Given the description of an element on the screen output the (x, y) to click on. 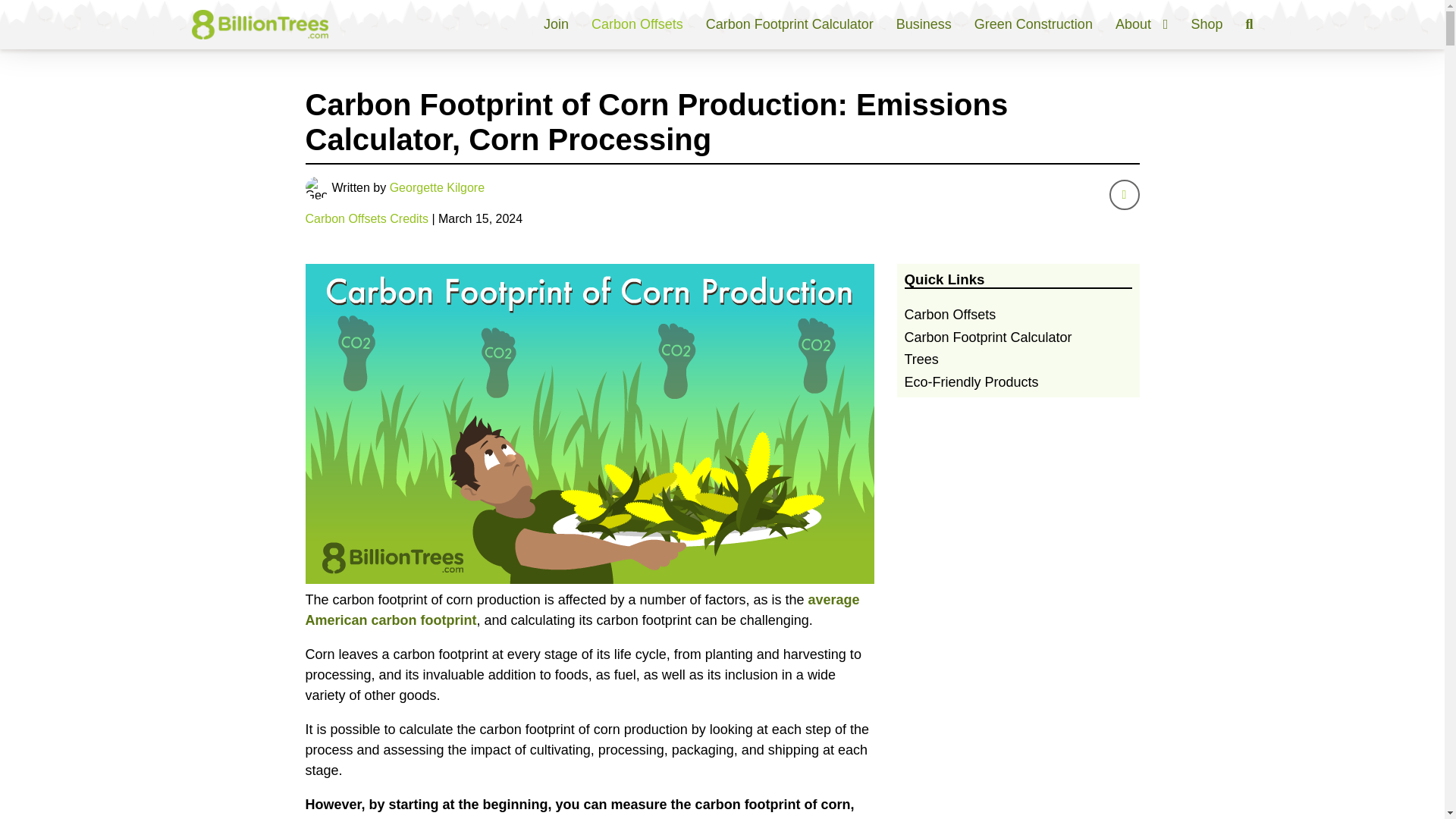
Georgette Kilgore (437, 187)
About (1142, 24)
average American carbon footprint (581, 610)
Business (924, 24)
Carbon Footprint Calculator (789, 24)
Carbon Offsets (636, 24)
Shop (1207, 24)
Green Construction (1033, 24)
Carbon Offsets Credits (366, 218)
